Given the description of an element on the screen output the (x, y) to click on. 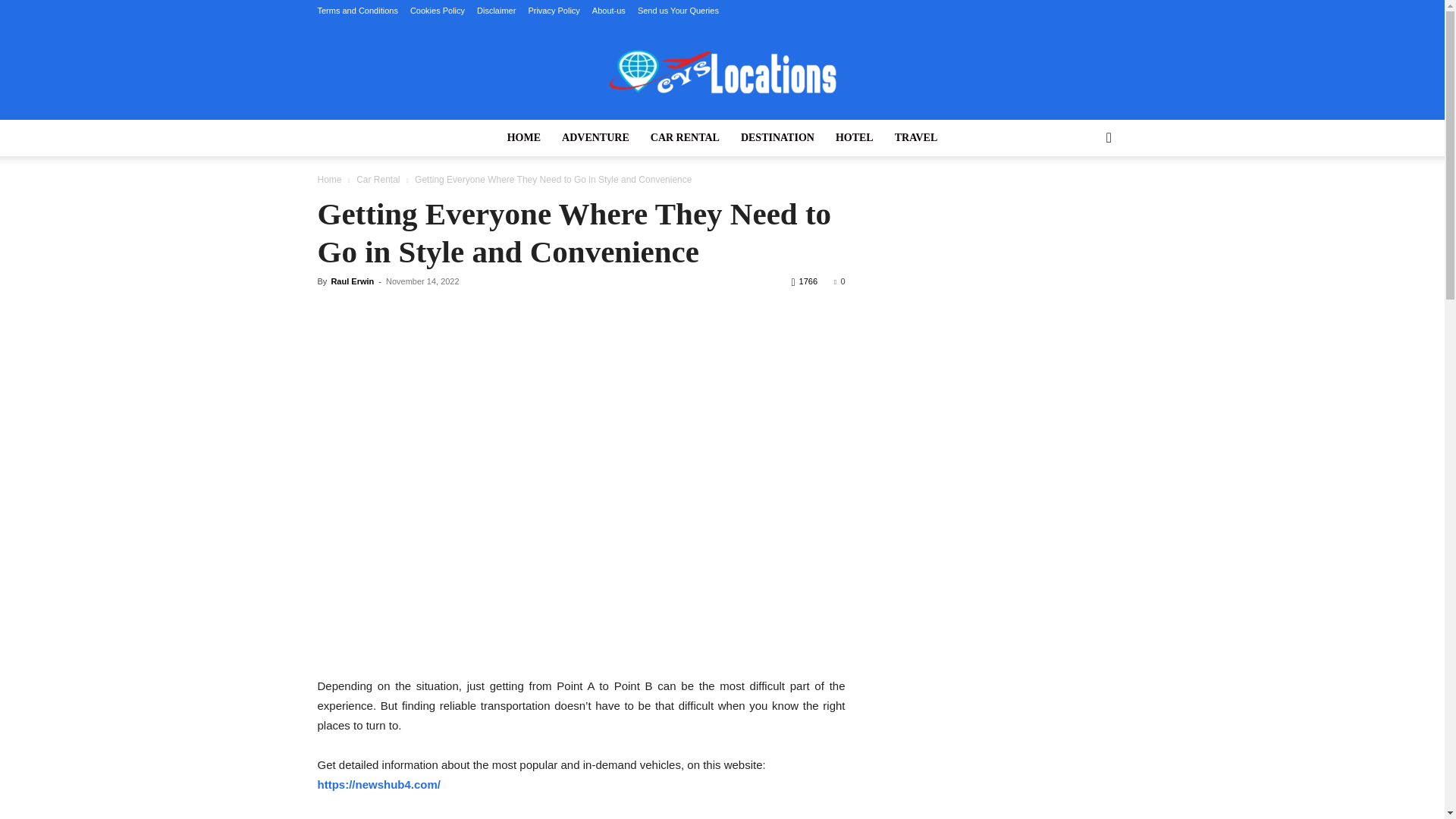
Car Rental (377, 179)
Cookies Policy (437, 10)
Terms and Conditions (357, 10)
0 (839, 280)
Search (1085, 198)
Home (328, 179)
View all posts in Car Rental (377, 179)
CAR RENTAL (685, 137)
Send us Your Queries (678, 10)
